Given the description of an element on the screen output the (x, y) to click on. 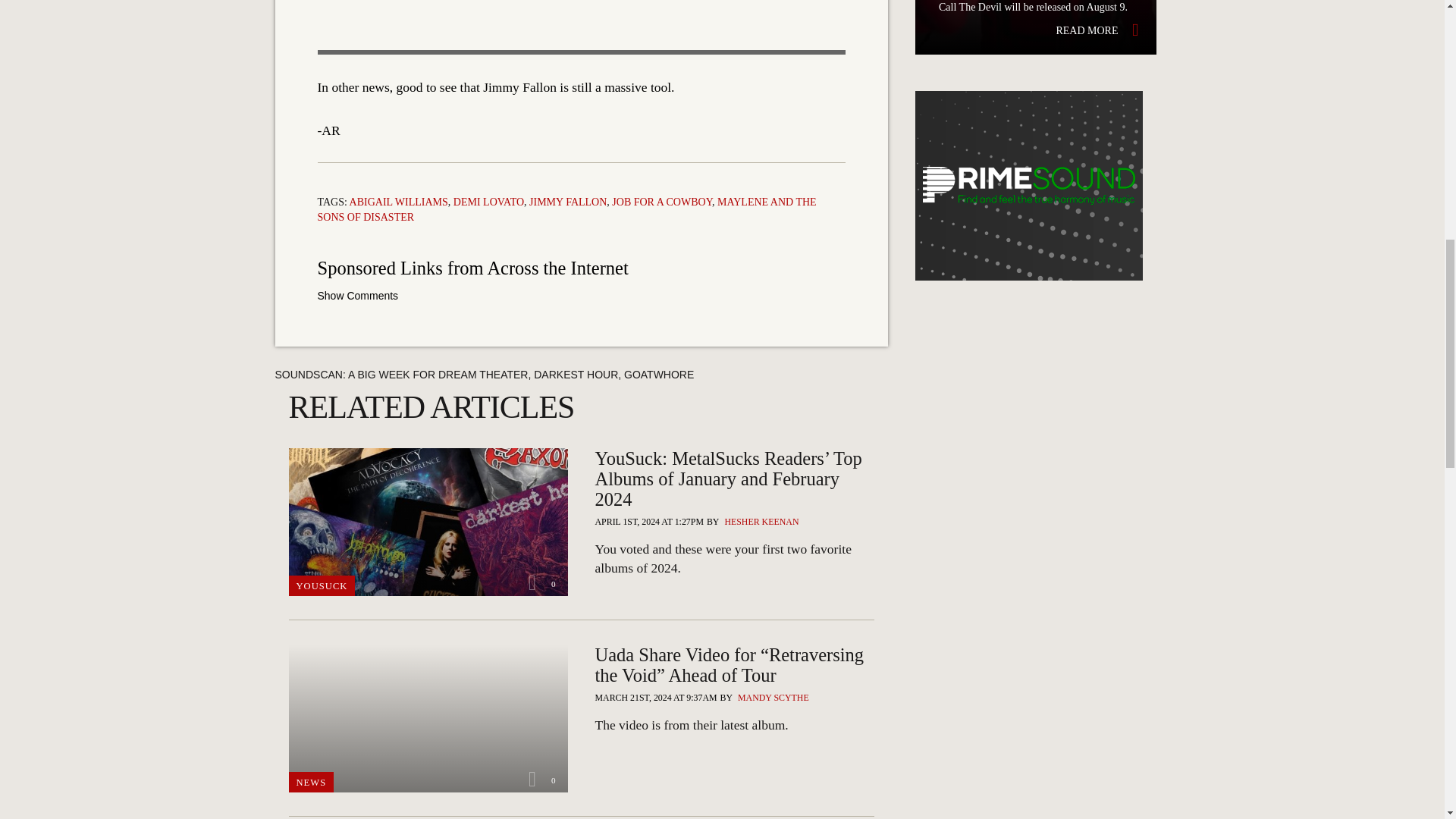
Uada Share Video for  (733, 724)
